Given the description of an element on the screen output the (x, y) to click on. 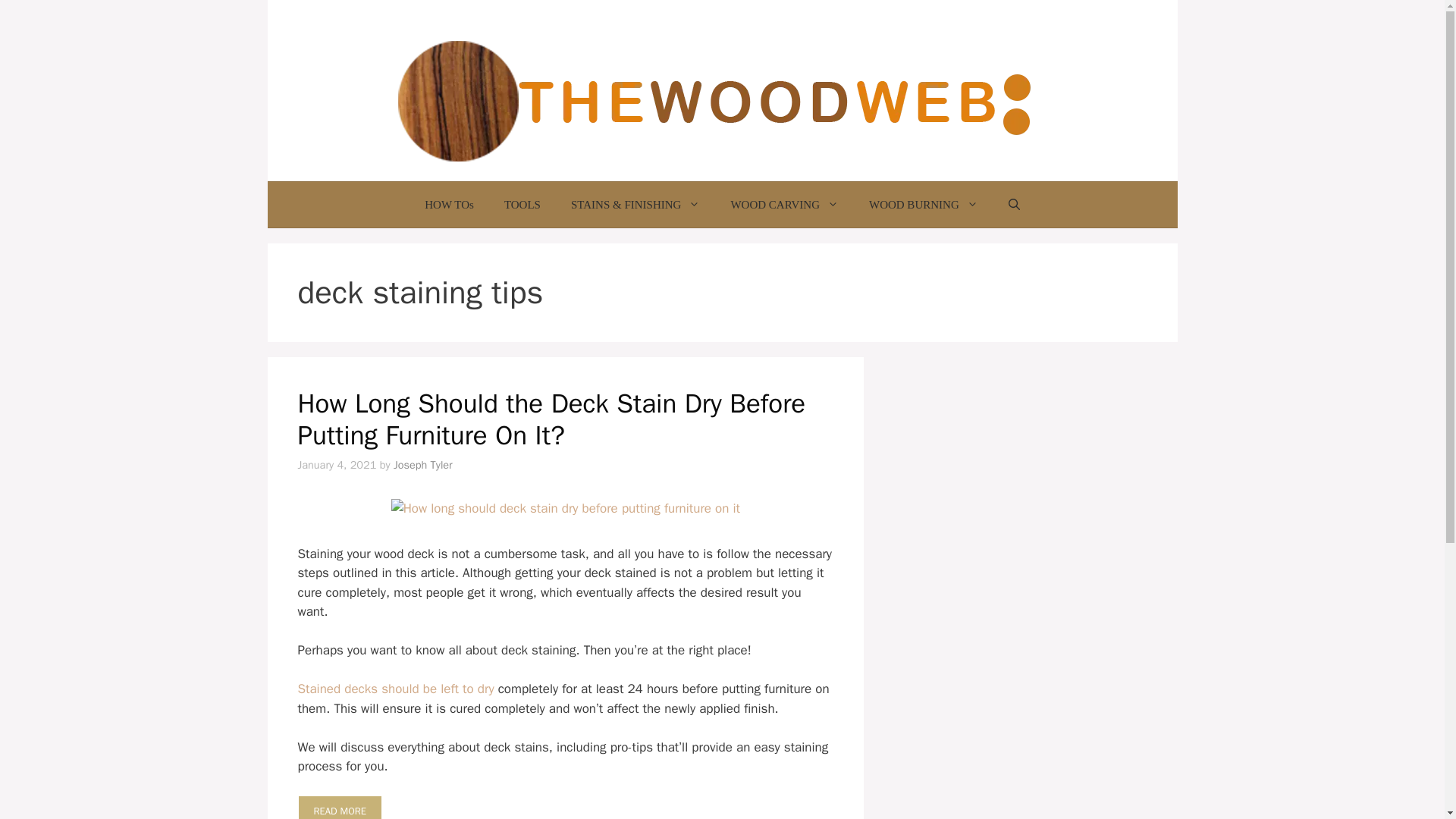
Stained decks should be left to dry (395, 688)
View all posts by Joseph Tyler (422, 464)
Joseph Tyler (422, 464)
WOOD BURNING (922, 204)
WOOD CARVING (783, 204)
READ MORE (339, 807)
HOW TOs (449, 204)
TOOLS (522, 204)
